Given the description of an element on the screen output the (x, y) to click on. 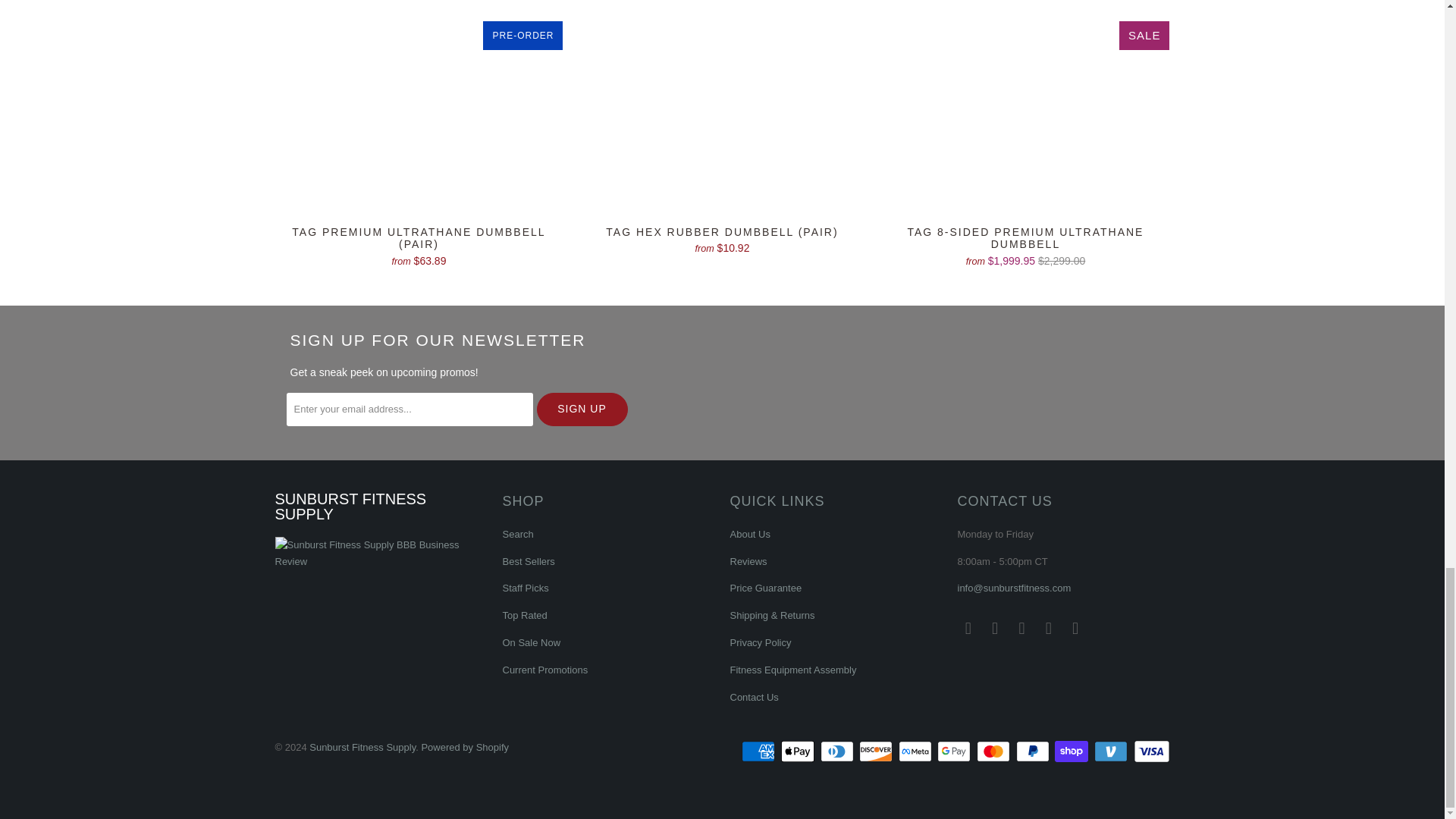
Diners Club (839, 751)
Mastercard (994, 751)
Visa (1150, 751)
Google Pay (955, 751)
Shop Pay (1072, 751)
Apple Pay (798, 751)
American Express (759, 751)
PayPal (1034, 751)
Venmo (1112, 751)
Discover (877, 751)
Sign Up (582, 409)
Meta Pay (916, 751)
